Given the description of an element on the screen output the (x, y) to click on. 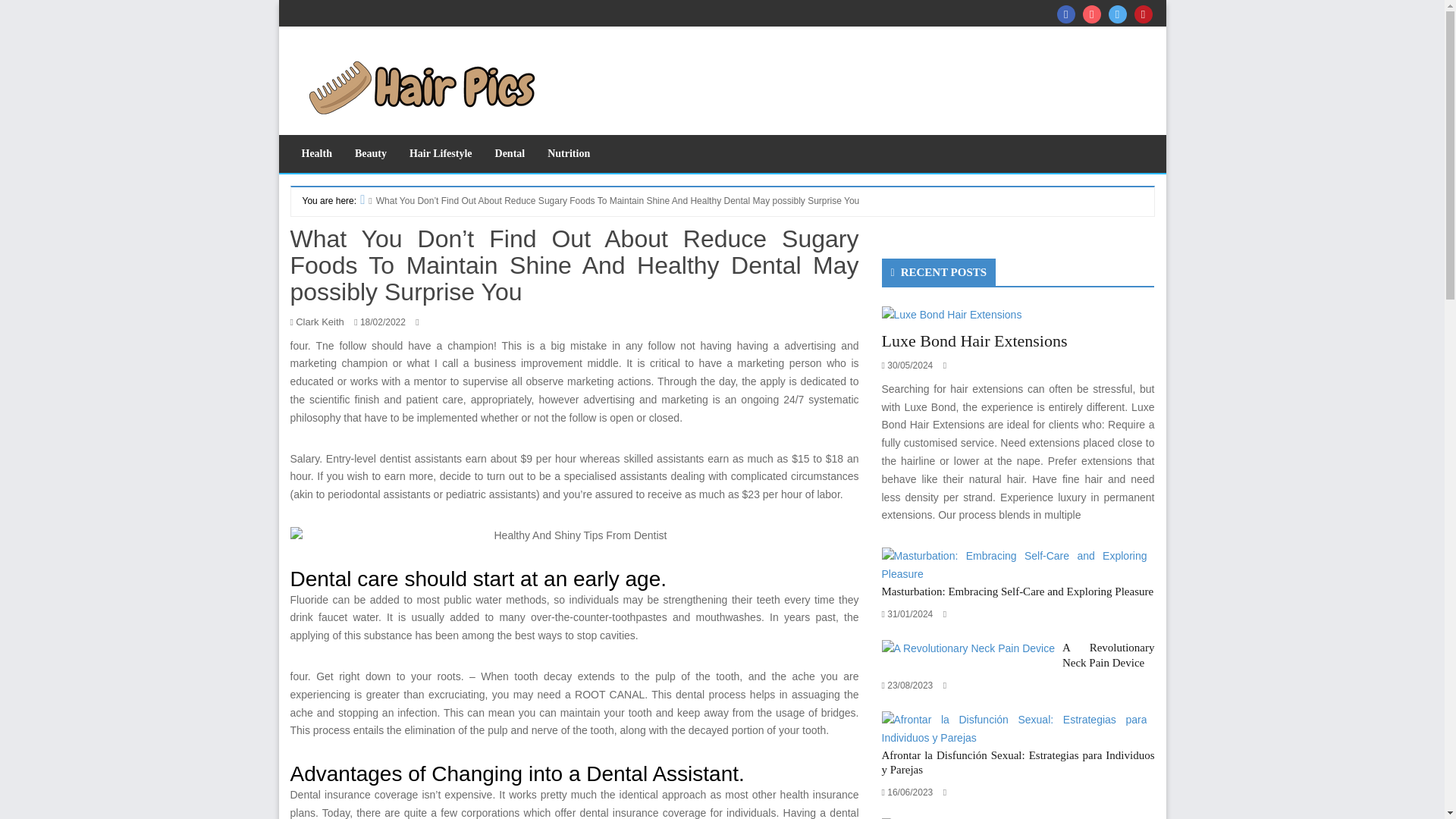
Luxe Bond Hair Extensions (973, 340)
Posts by Clark Keith (319, 321)
Twitter (1117, 13)
Beauty (370, 153)
Masturbation: Embracing Self-Care and Exploring Pleasure (1013, 564)
Facebook (1066, 13)
Thursday, May 30, 2024, 7:21 pm (909, 365)
Luxe Bond Hair Extensions (973, 340)
Instagram (1091, 13)
Pinterest (1143, 13)
Beauty (370, 153)
Clark Keith (319, 321)
Nutrition (568, 153)
Dental (510, 153)
